Given the description of an element on the screen output the (x, y) to click on. 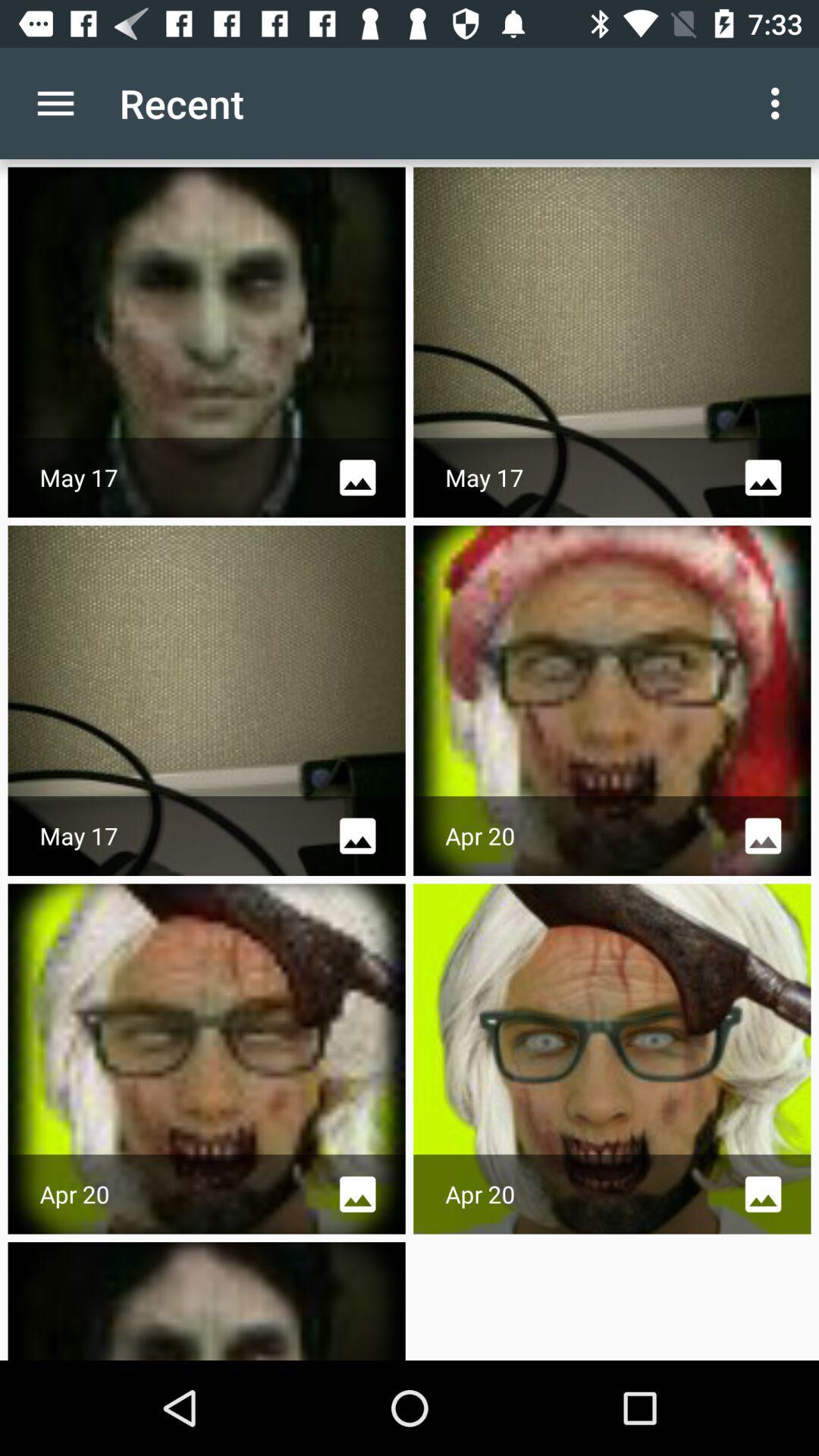
press app next to the recent app (55, 103)
